Given the description of an element on the screen output the (x, y) to click on. 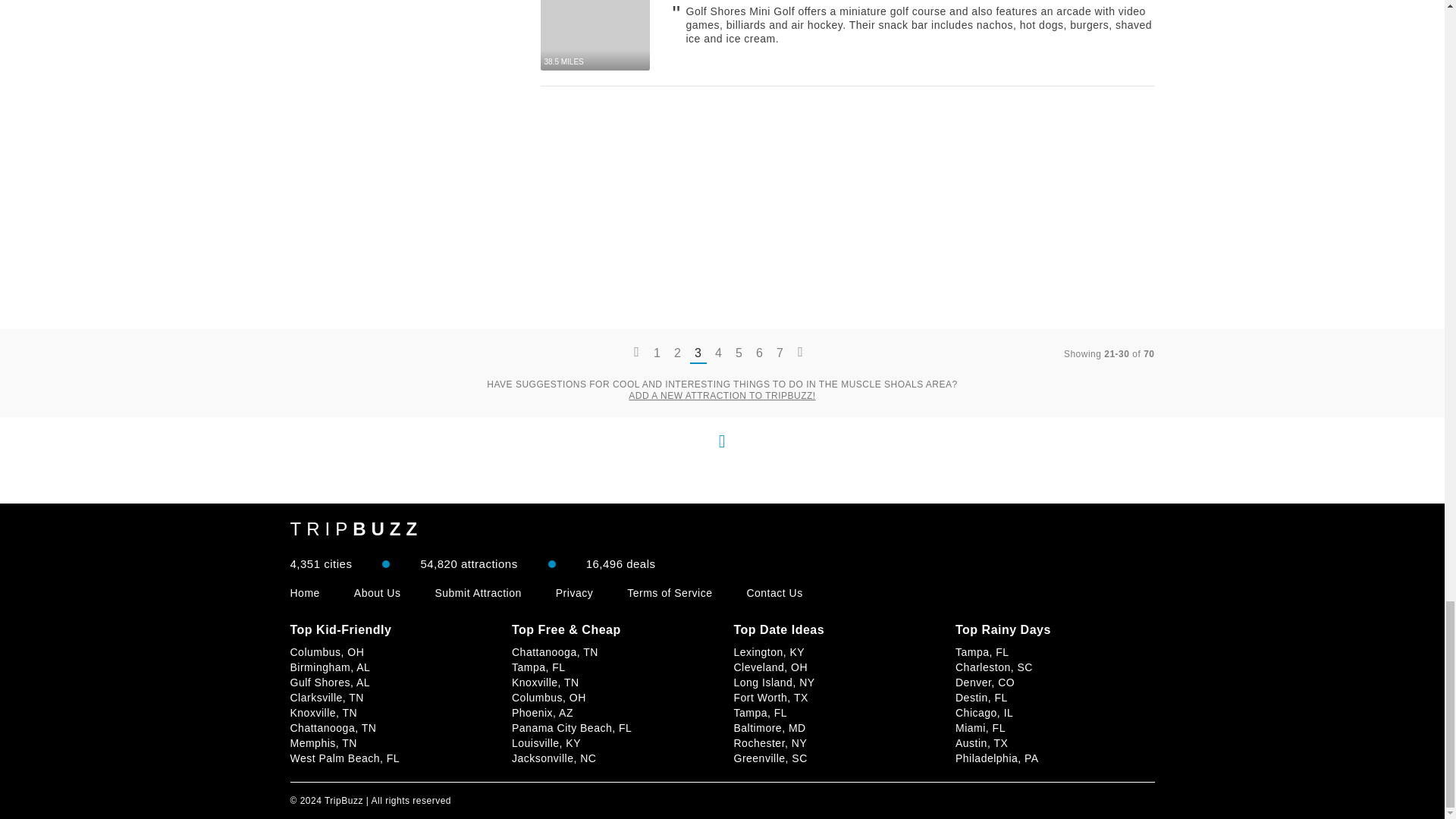
Privacy (574, 592)
About (377, 592)
Terms of Service (669, 592)
